Given the description of an element on the screen output the (x, y) to click on. 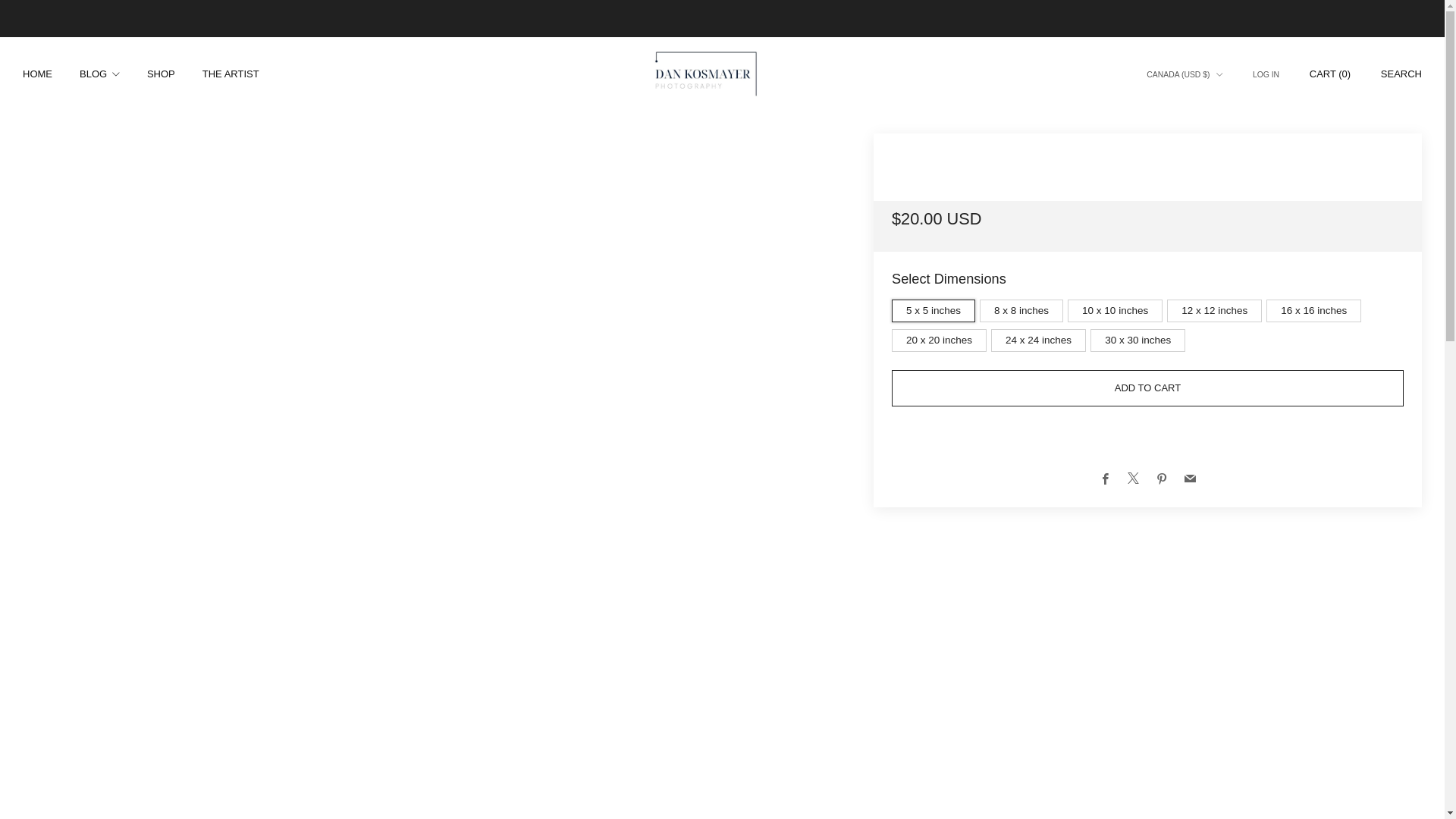
30 x 30 inches (1139, 337)
12 x 12 inches (1216, 307)
20 x 20 inches (941, 337)
THE ARTIST (230, 73)
